Given the description of an element on the screen output the (x, y) to click on. 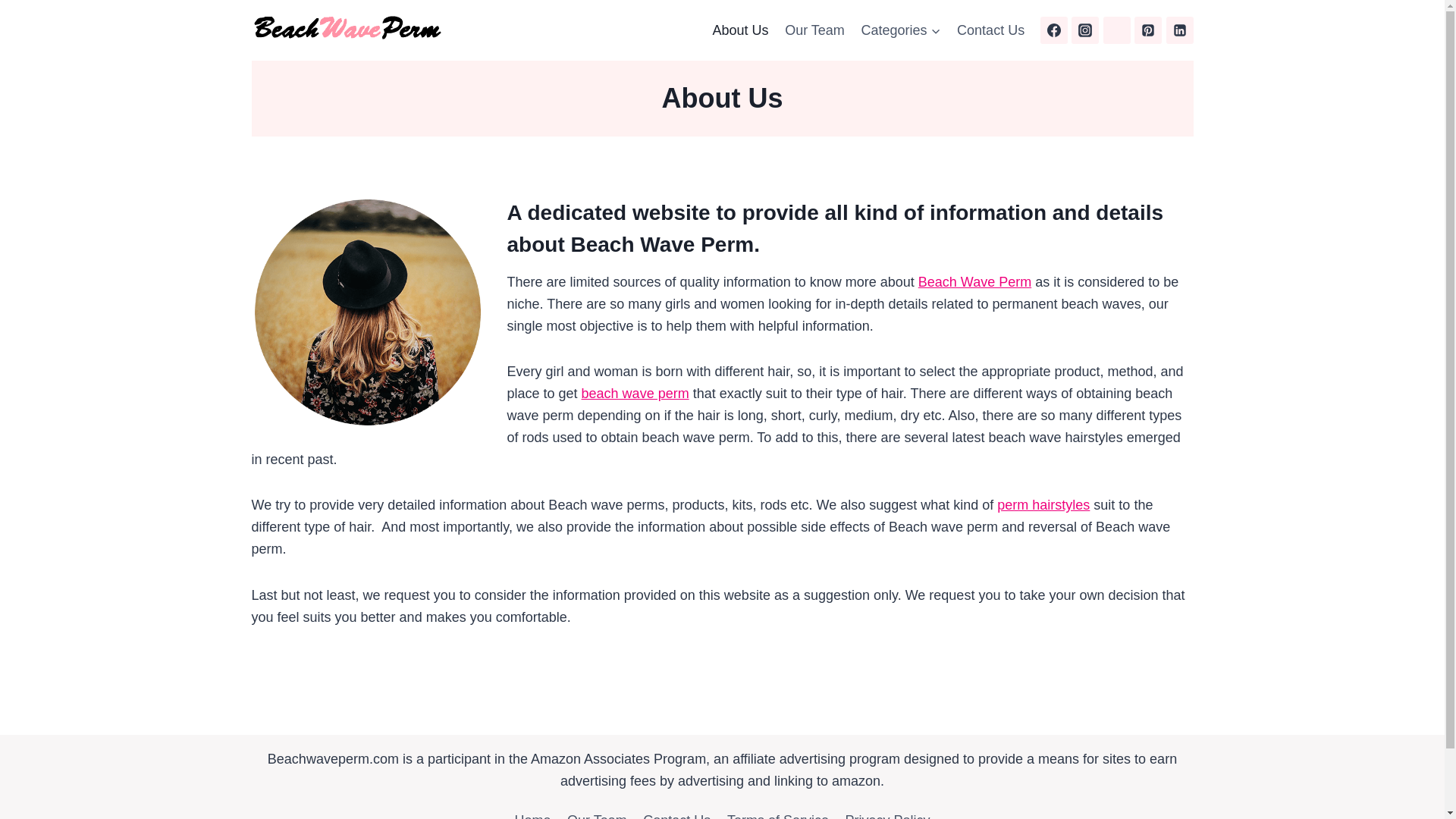
Contact Us (676, 812)
beach wave perm (634, 393)
perm rod hair styles (1043, 504)
Beach Wave Perm (974, 281)
Beach Wave Perms - A Complete Guide (634, 393)
Home (532, 812)
Contact Us (990, 30)
About Us (740, 30)
Our Team (596, 812)
Privacy Policy (888, 812)
